Given the description of an element on the screen output the (x, y) to click on. 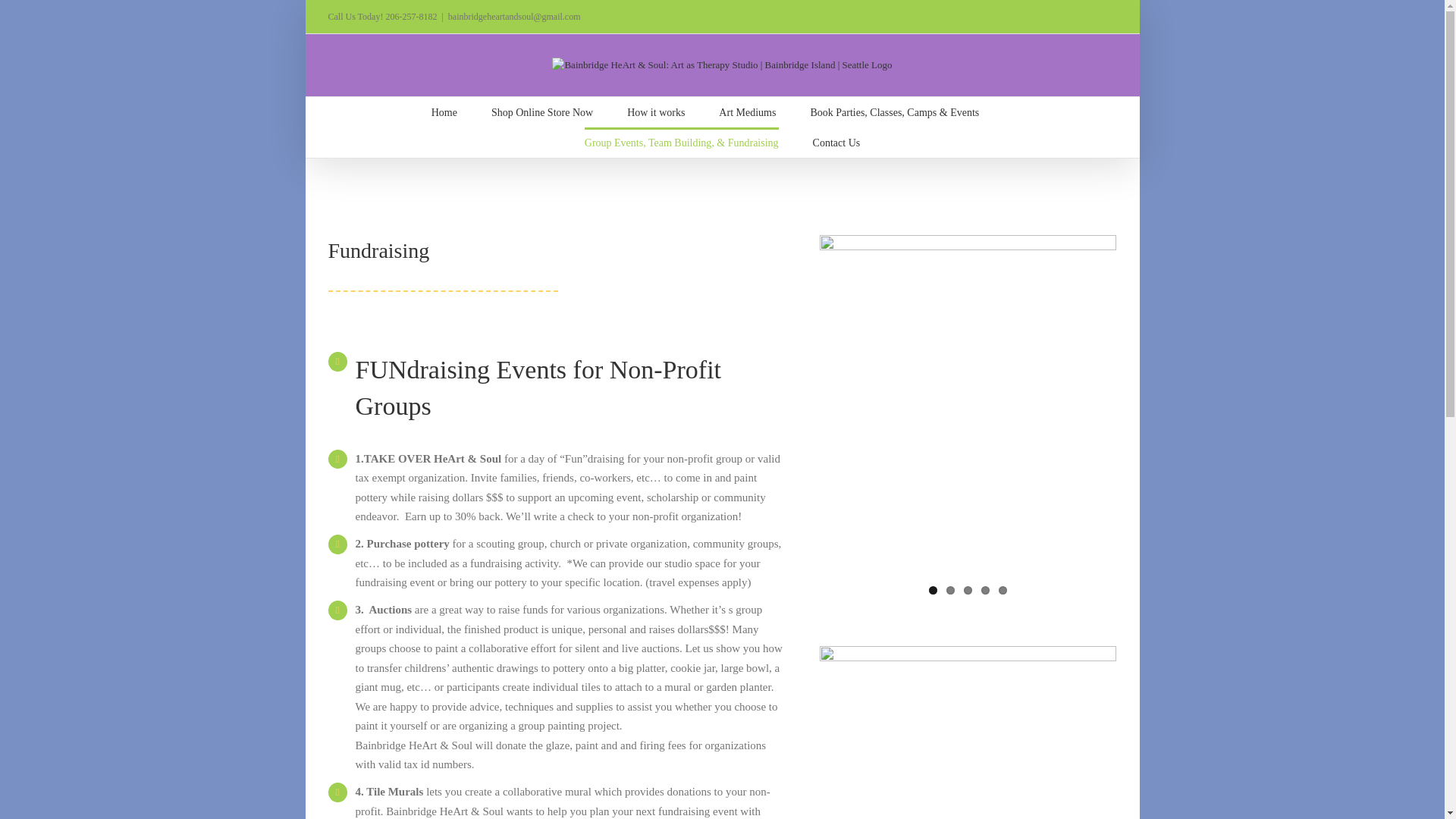
Contact Us (836, 142)
Shop Online Store Now (542, 112)
Art Mediums (747, 112)
How it works (655, 112)
